Given the description of an element on the screen output the (x, y) to click on. 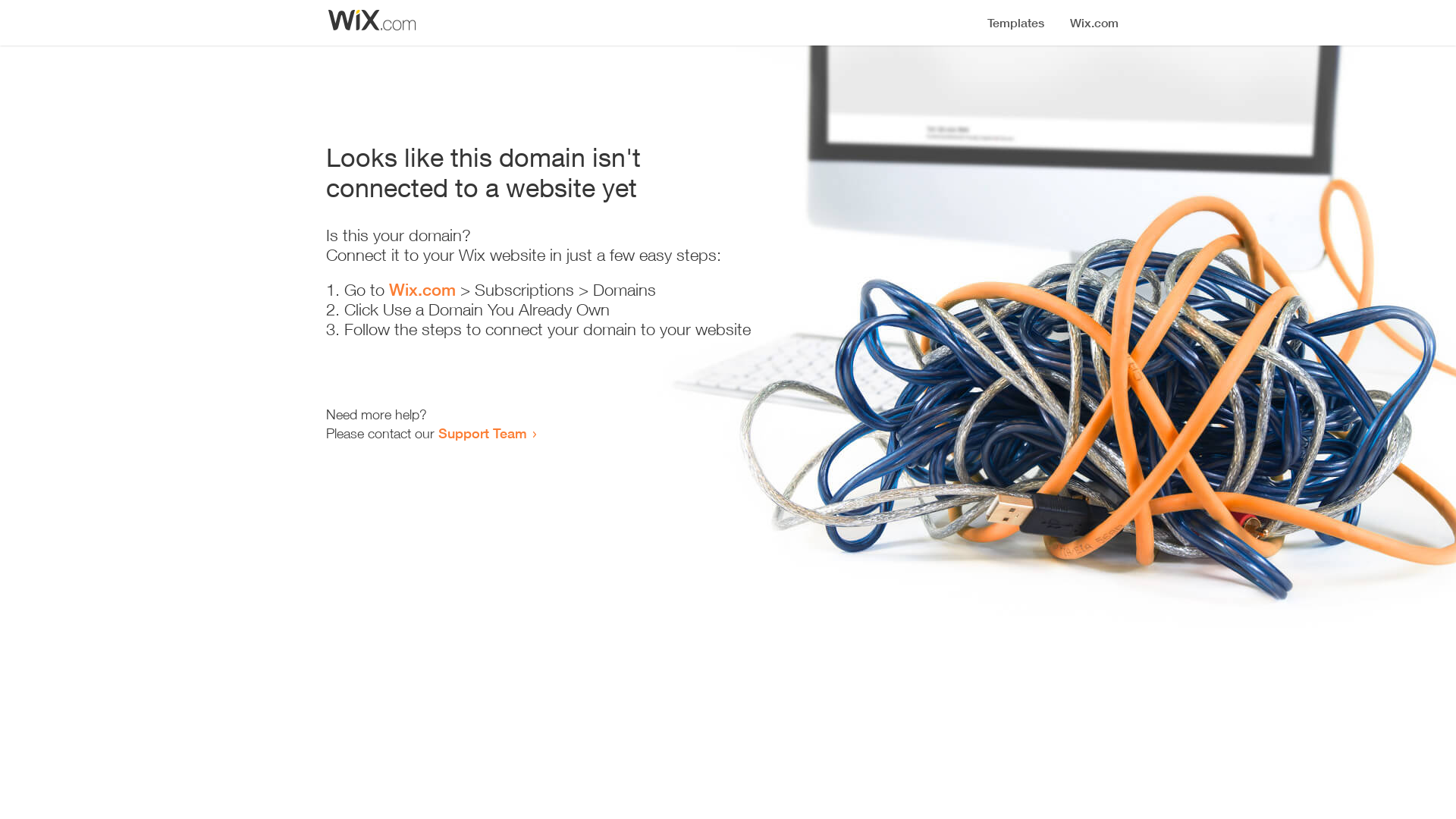
Support Team Element type: text (482, 432)
Wix.com Element type: text (422, 289)
